Given the description of an element on the screen output the (x, y) to click on. 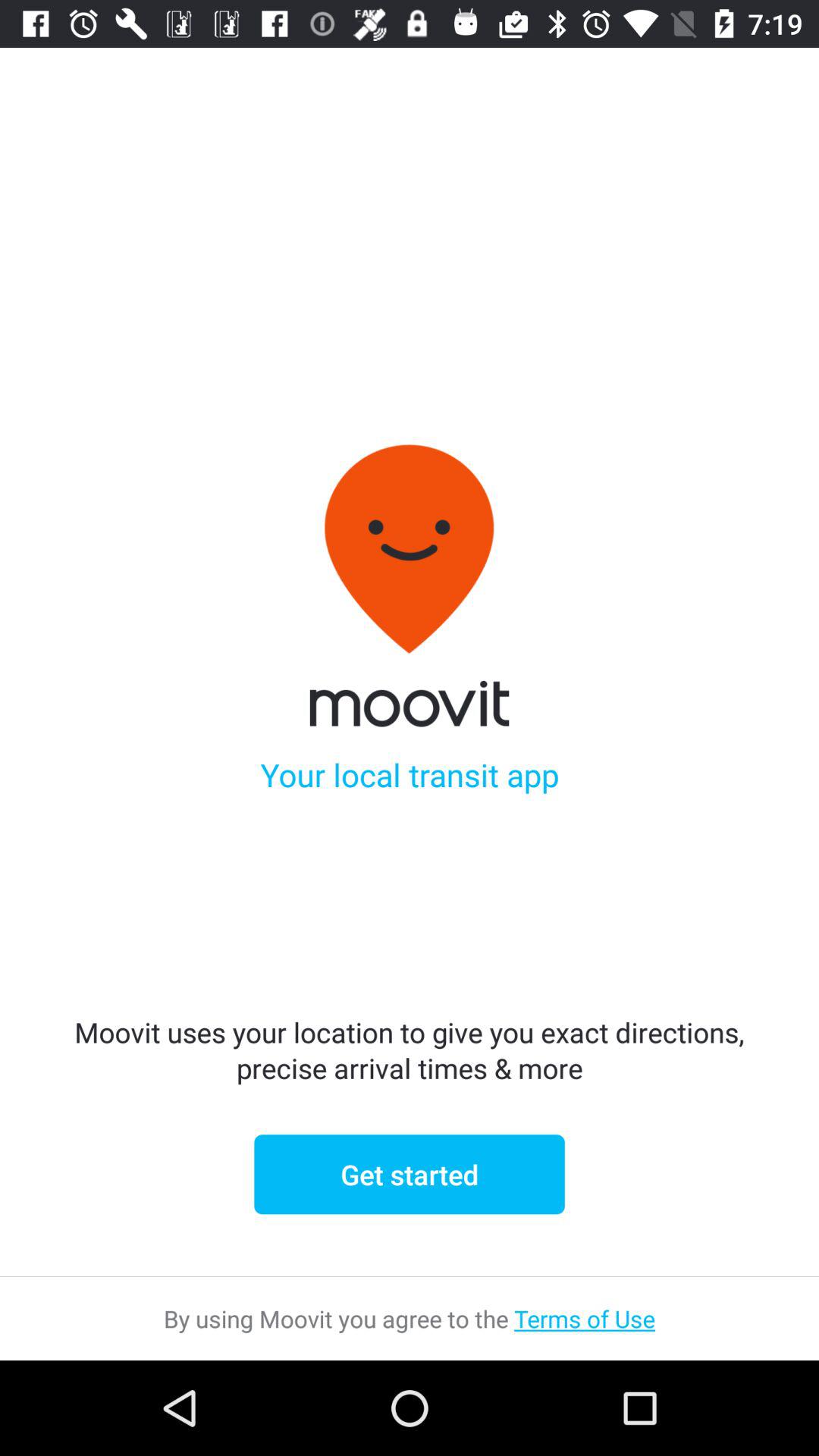
launch the by using moovit (409, 1318)
